Given the description of an element on the screen output the (x, y) to click on. 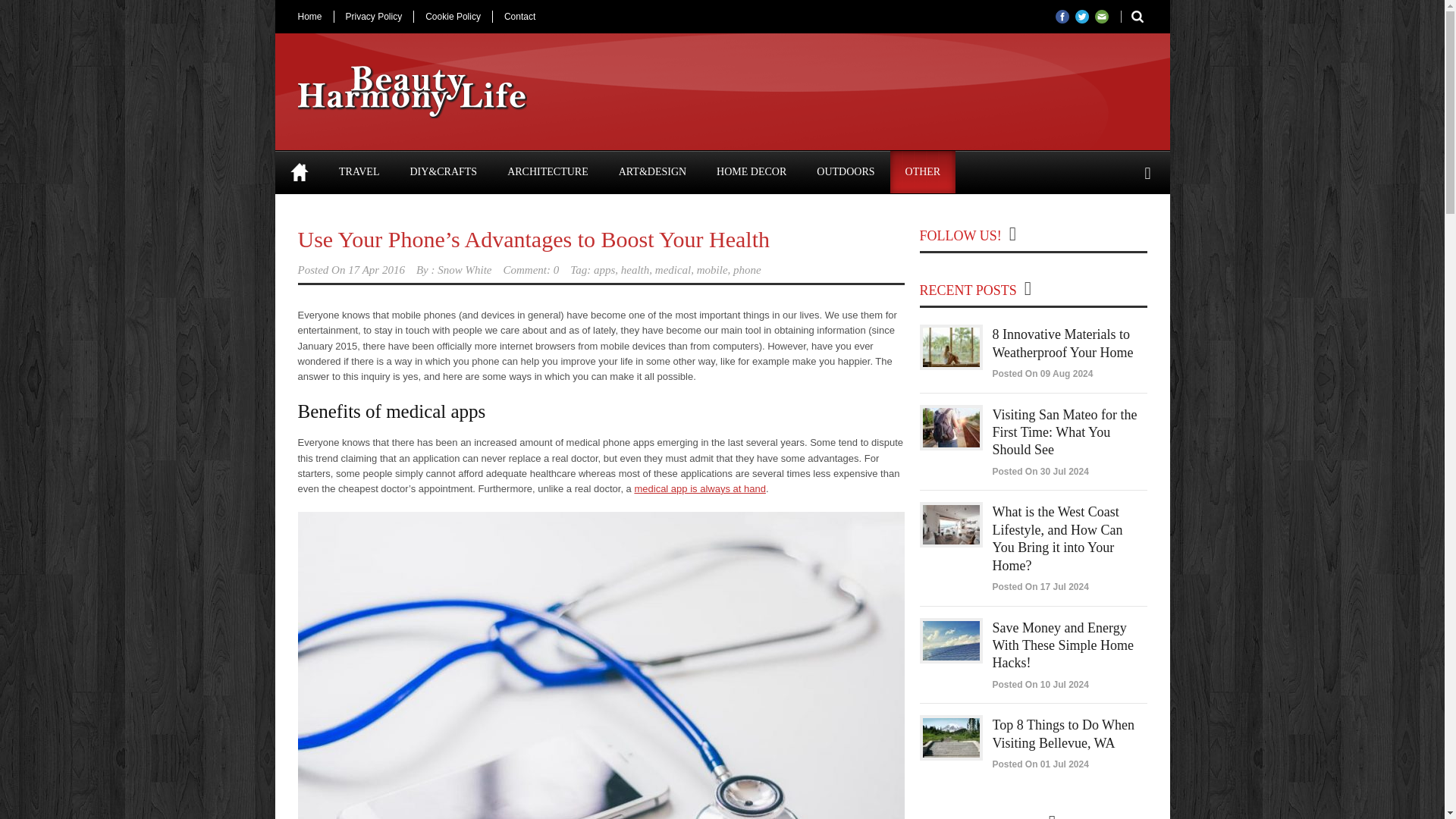
OUTDOORS (845, 171)
ARCHITECTURE (548, 171)
Privacy Policy (373, 16)
apps (604, 269)
Comment: 0 (530, 269)
Cookie Policy (452, 16)
OTHER (922, 171)
Snow White (465, 269)
health (635, 269)
Contact (519, 16)
